Given the description of an element on the screen output the (x, y) to click on. 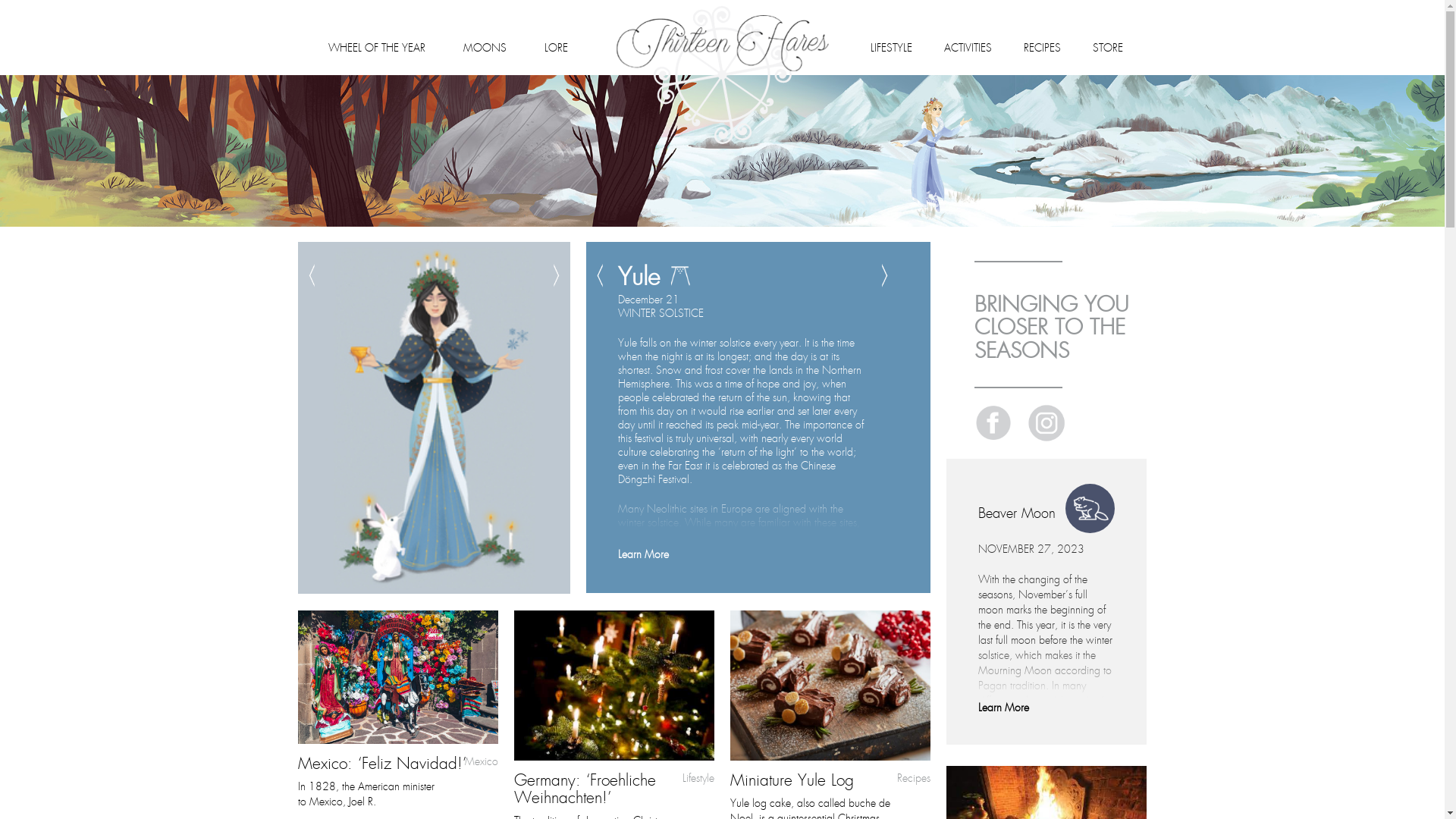
LIFESTYLE Element type: text (891, 45)
Learn More Element type: text (1003, 705)
STORE Element type: text (1107, 45)
Beaver Moon Element type: text (1046, 509)
RECIPES Element type: text (1041, 45)
MOONS Element type: text (483, 45)
ACTIVITIES Element type: text (967, 45)
LORE Element type: text (555, 45)
WHEEL OF THE YEAR Element type: text (375, 45)
Learn More Element type: text (643, 551)
